Given the description of an element on the screen output the (x, y) to click on. 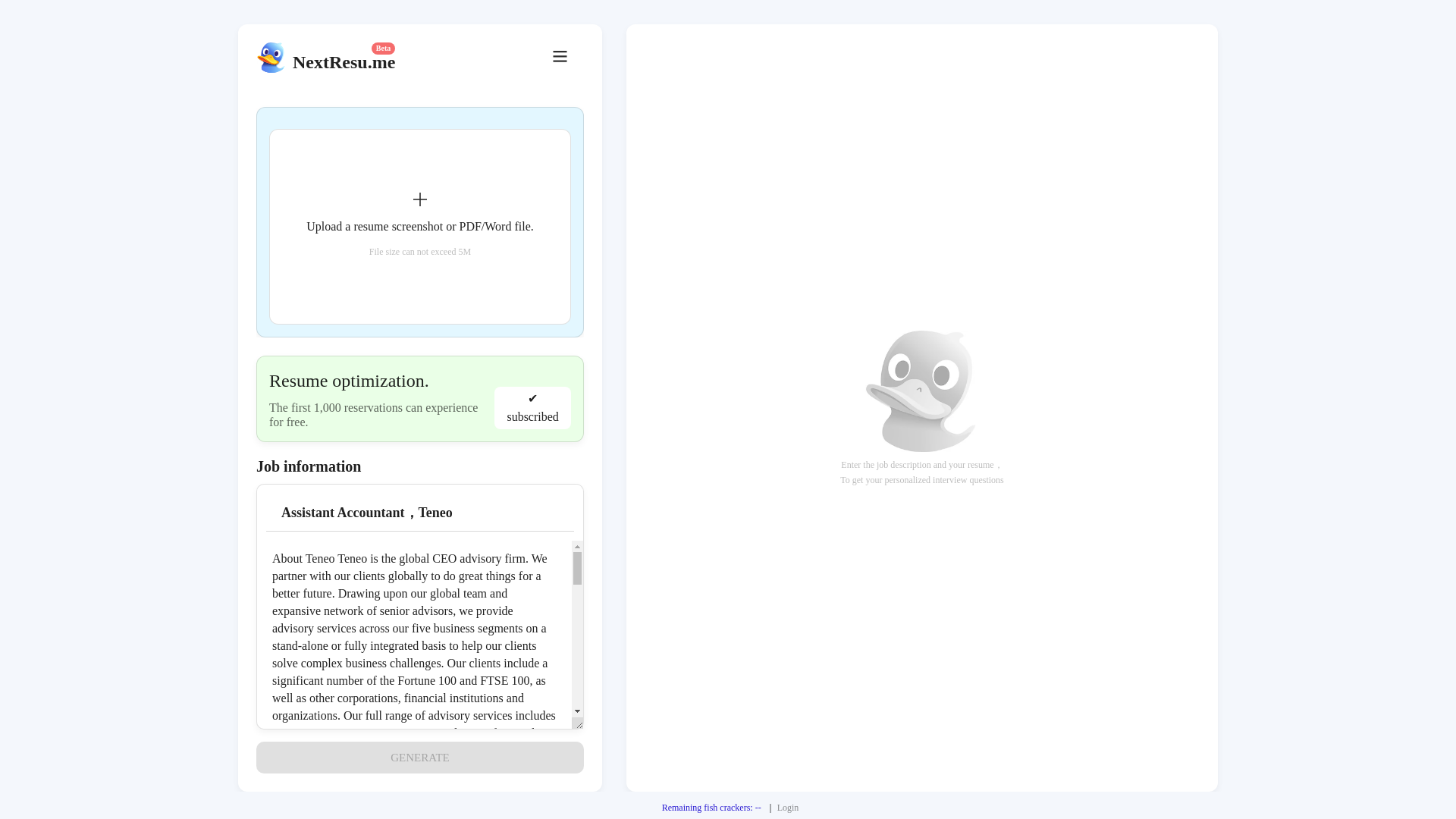
GENERATE (419, 757)
Remaining fish crackers: -- (711, 807)
Login (788, 807)
